Given the description of an element on the screen output the (x, y) to click on. 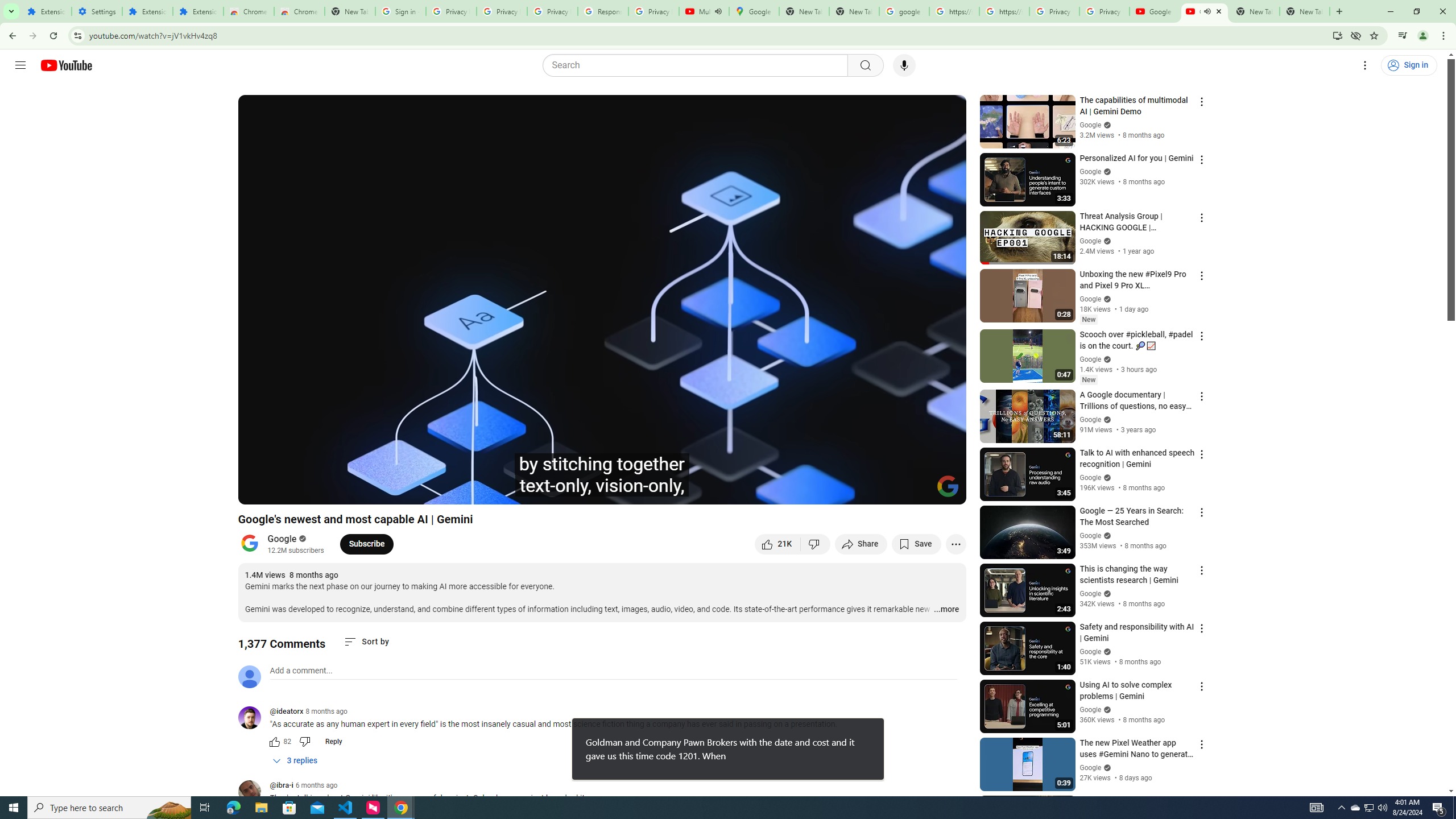
New Tab (350, 11)
Verified (1106, 767)
Install YouTube (1336, 35)
@ideatorx (253, 717)
Google Maps (753, 11)
Channel watermark (947, 486)
New (1087, 379)
3 replies (295, 761)
Extensions (146, 11)
Mute tab (1206, 10)
